Given the description of an element on the screen output the (x, y) to click on. 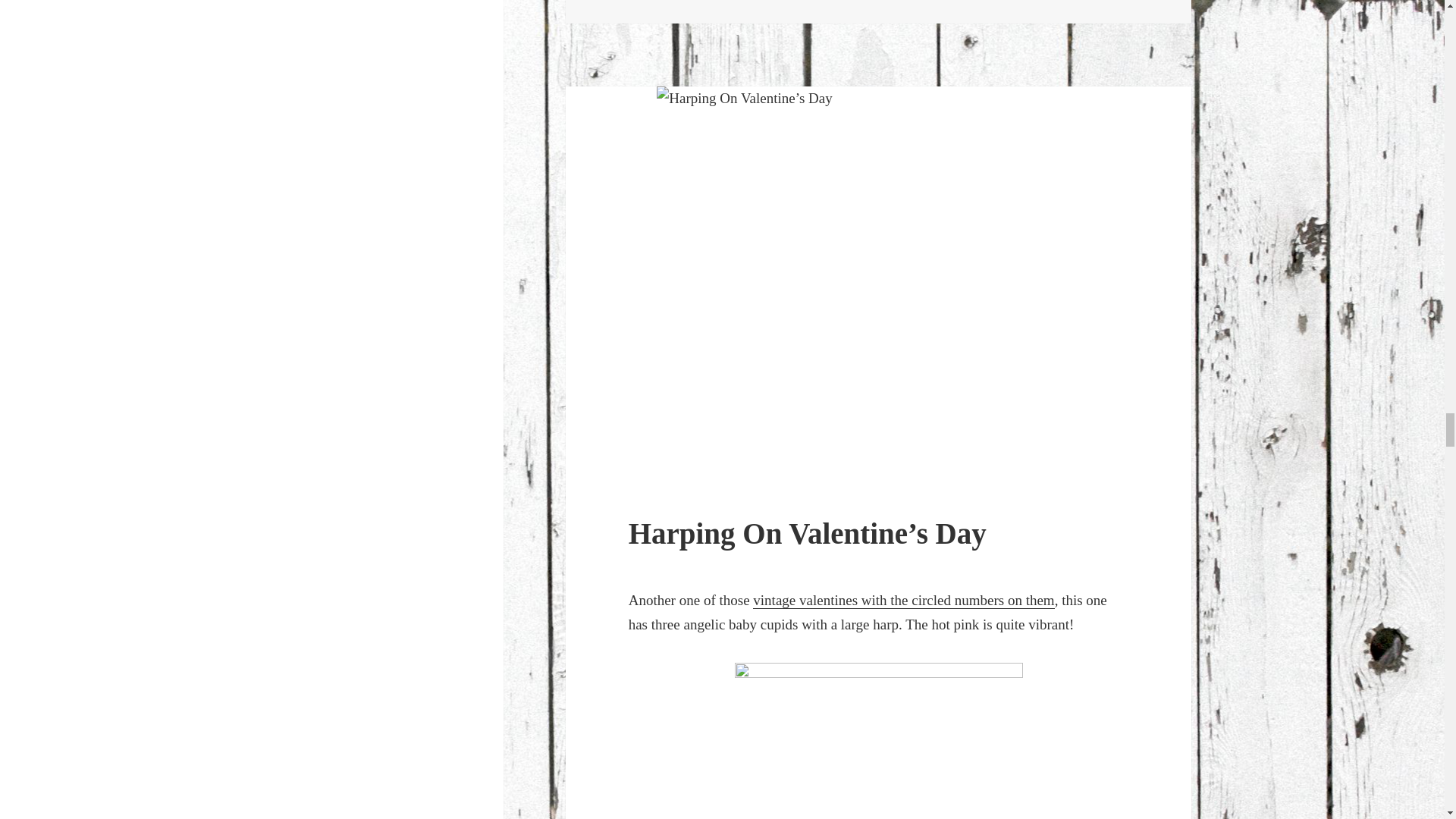
vintage angels harp baby cupid valentine (879, 739)
